Given the description of an element on the screen output the (x, y) to click on. 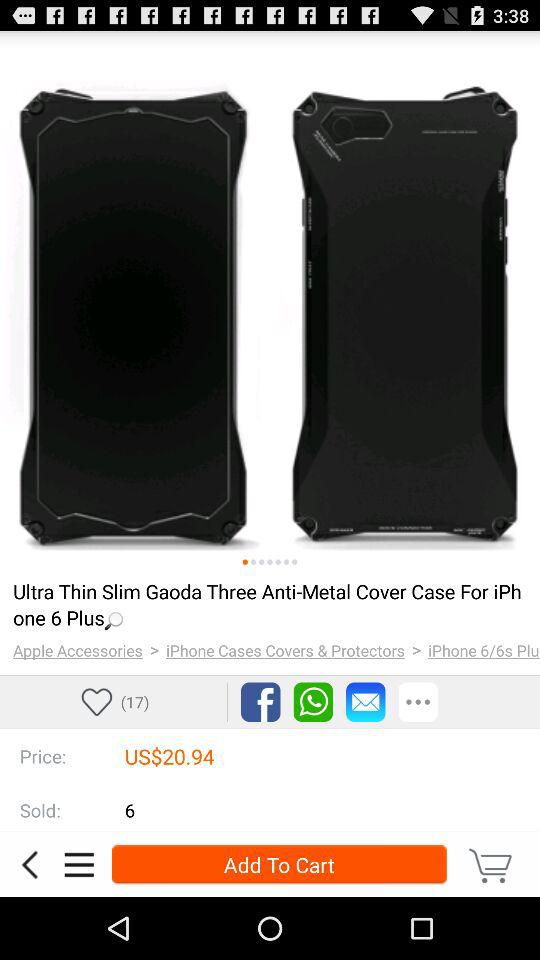
open fifth image (277, 561)
